Given the description of an element on the screen output the (x, y) to click on. 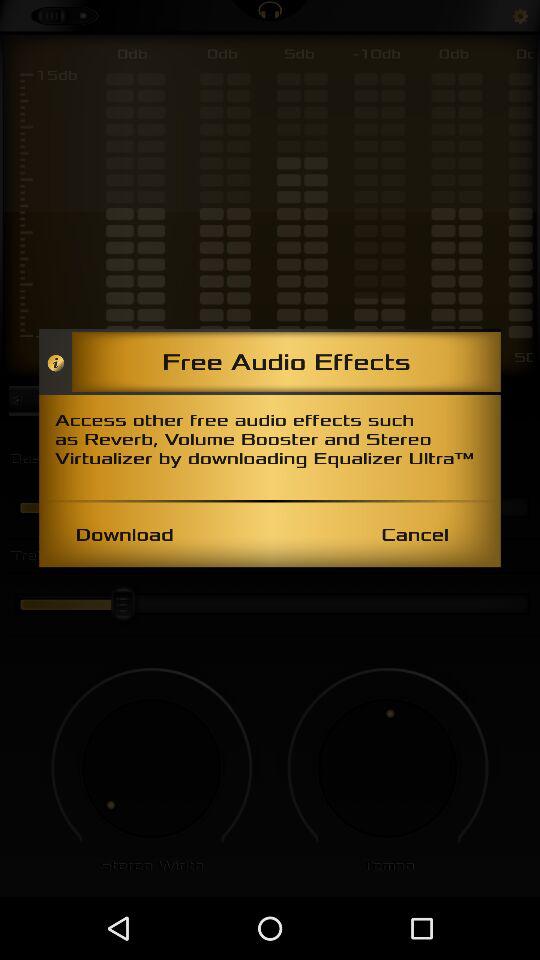
select the icon next to download (414, 534)
